Given the description of an element on the screen output the (x, y) to click on. 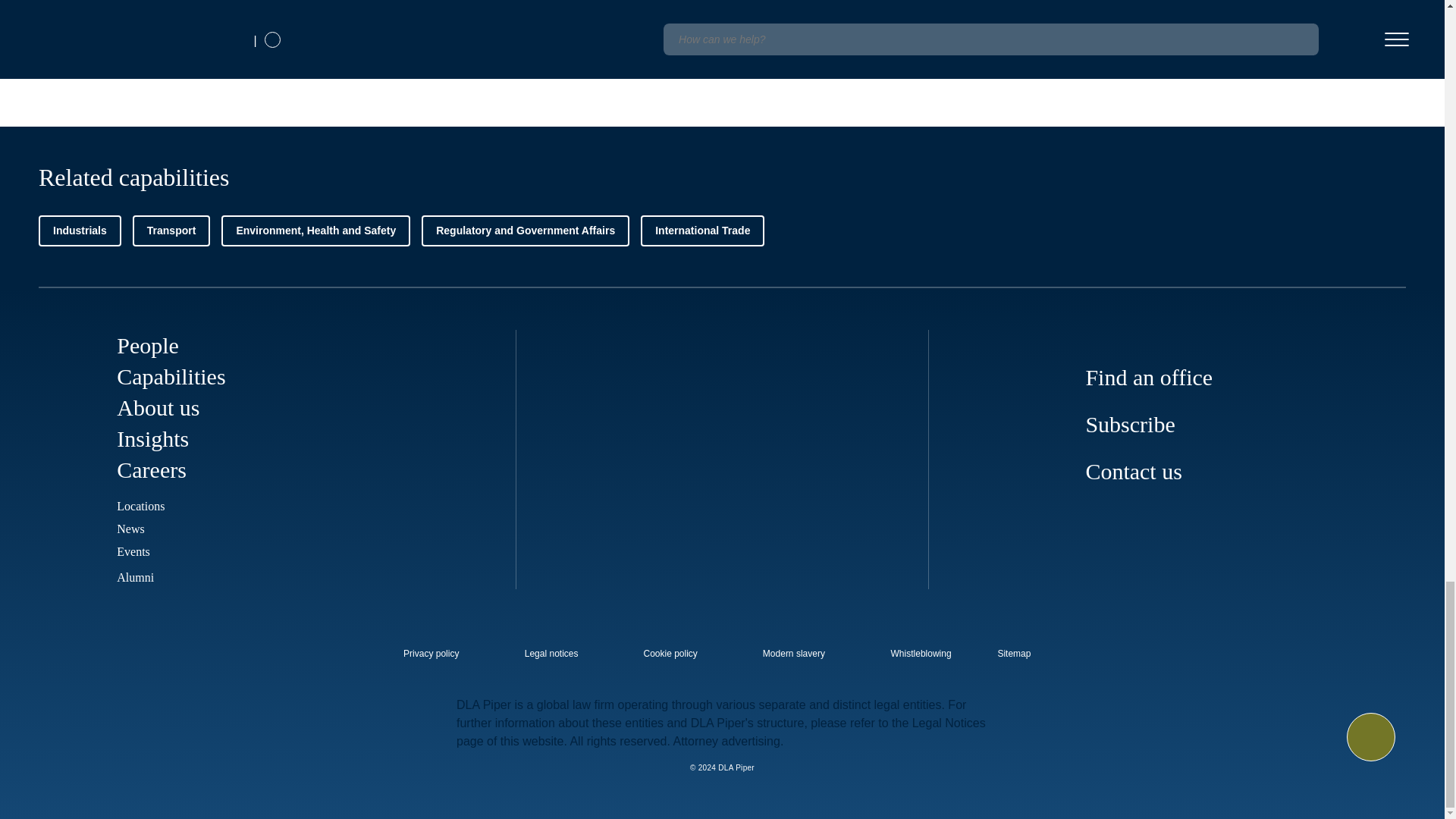
internal (920, 653)
Industrials (79, 230)
external (1024, 649)
internal (793, 653)
internal (430, 653)
internal (549, 653)
internal (670, 653)
Environment, Health and Safety (315, 230)
Transport (171, 230)
